Given the description of an element on the screen output the (x, y) to click on. 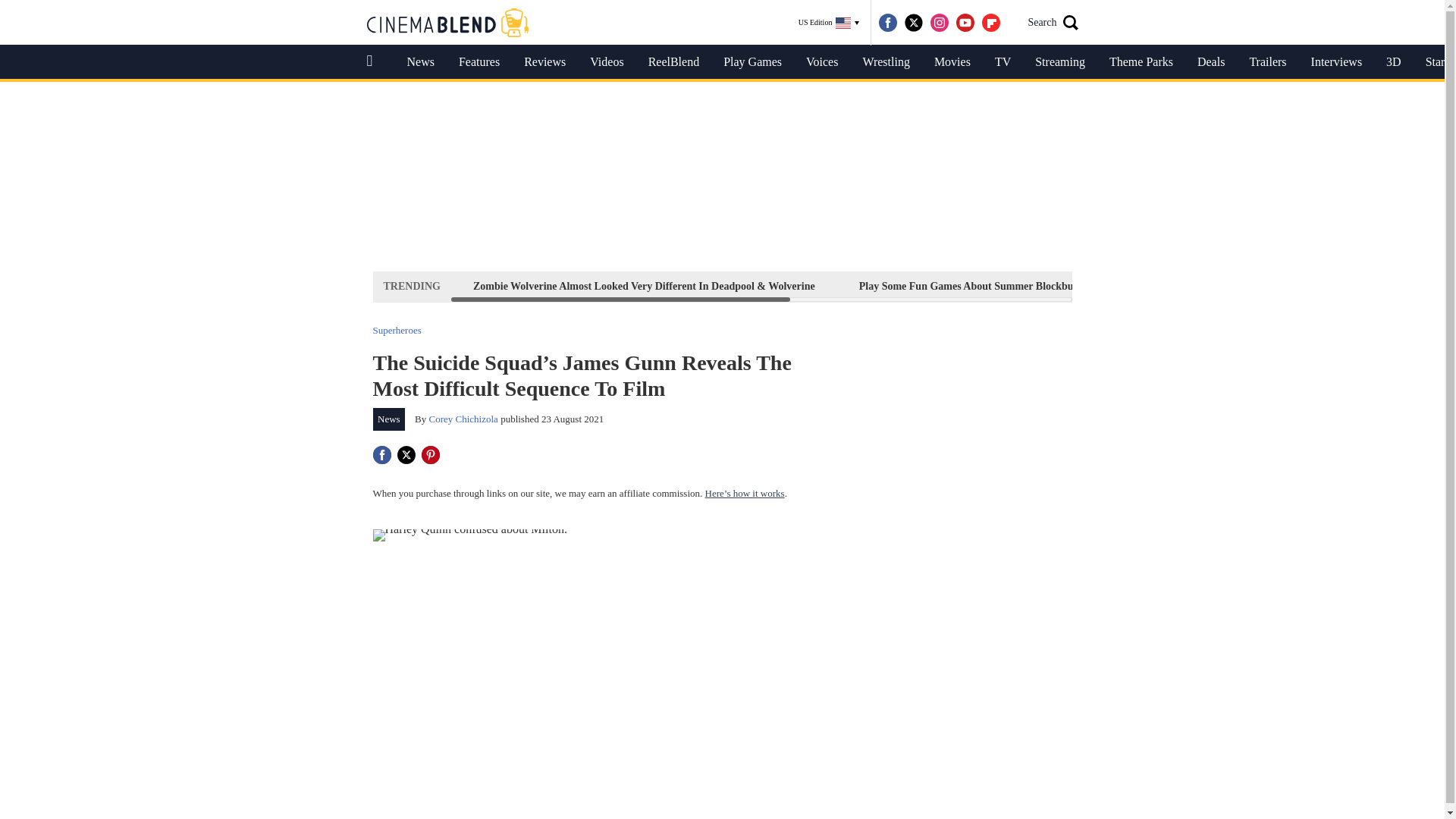
Wrestling (885, 61)
Theme Parks (1141, 61)
TV (1002, 61)
Movies (951, 61)
Superheroes (397, 329)
Reviews (545, 61)
Interviews (1336, 61)
Trailers (1267, 61)
Play Games (752, 61)
Streaming (1060, 61)
